Given the description of an element on the screen output the (x, y) to click on. 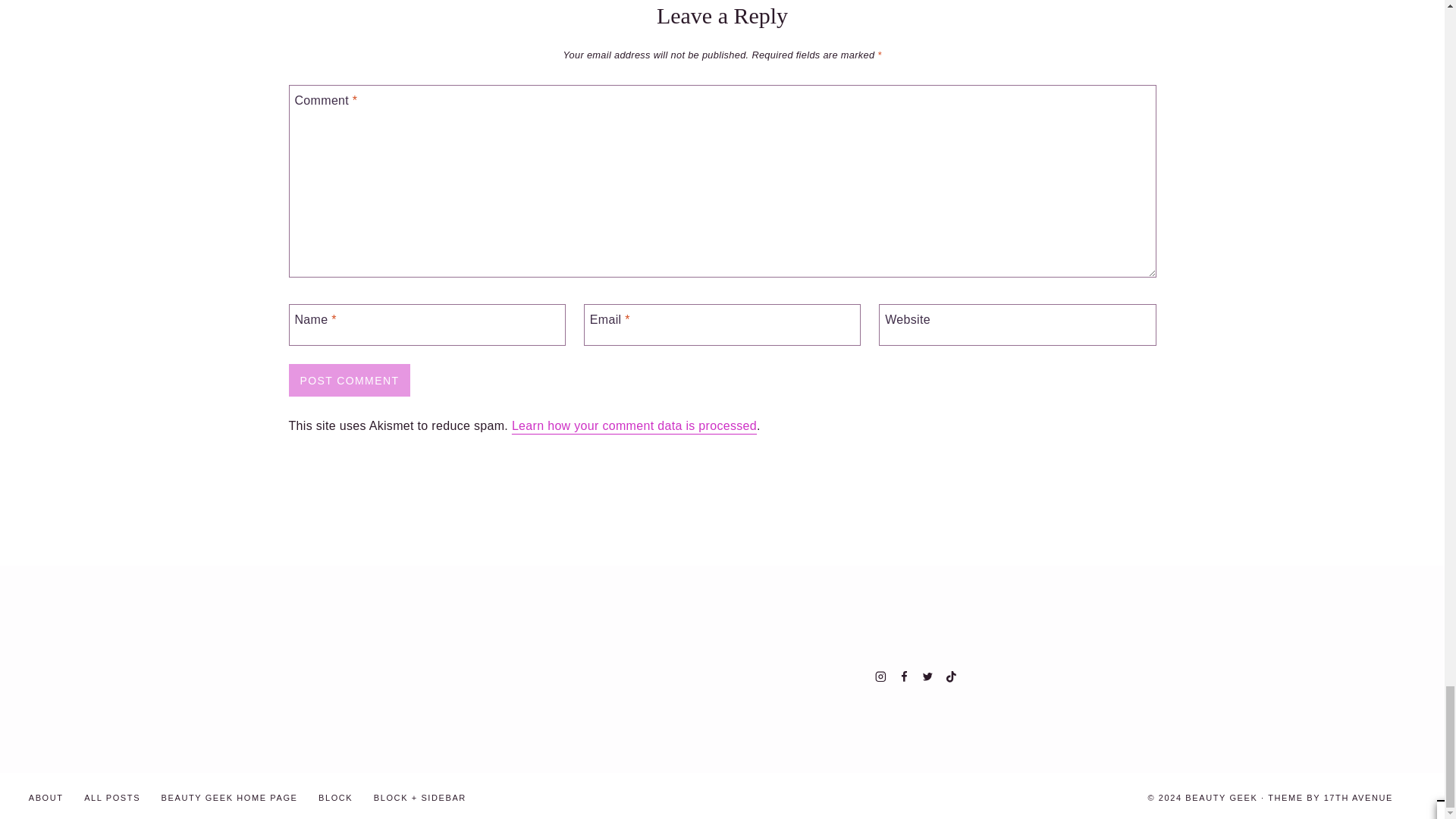
Post Comment (349, 380)
